Given the description of an element on the screen output the (x, y) to click on. 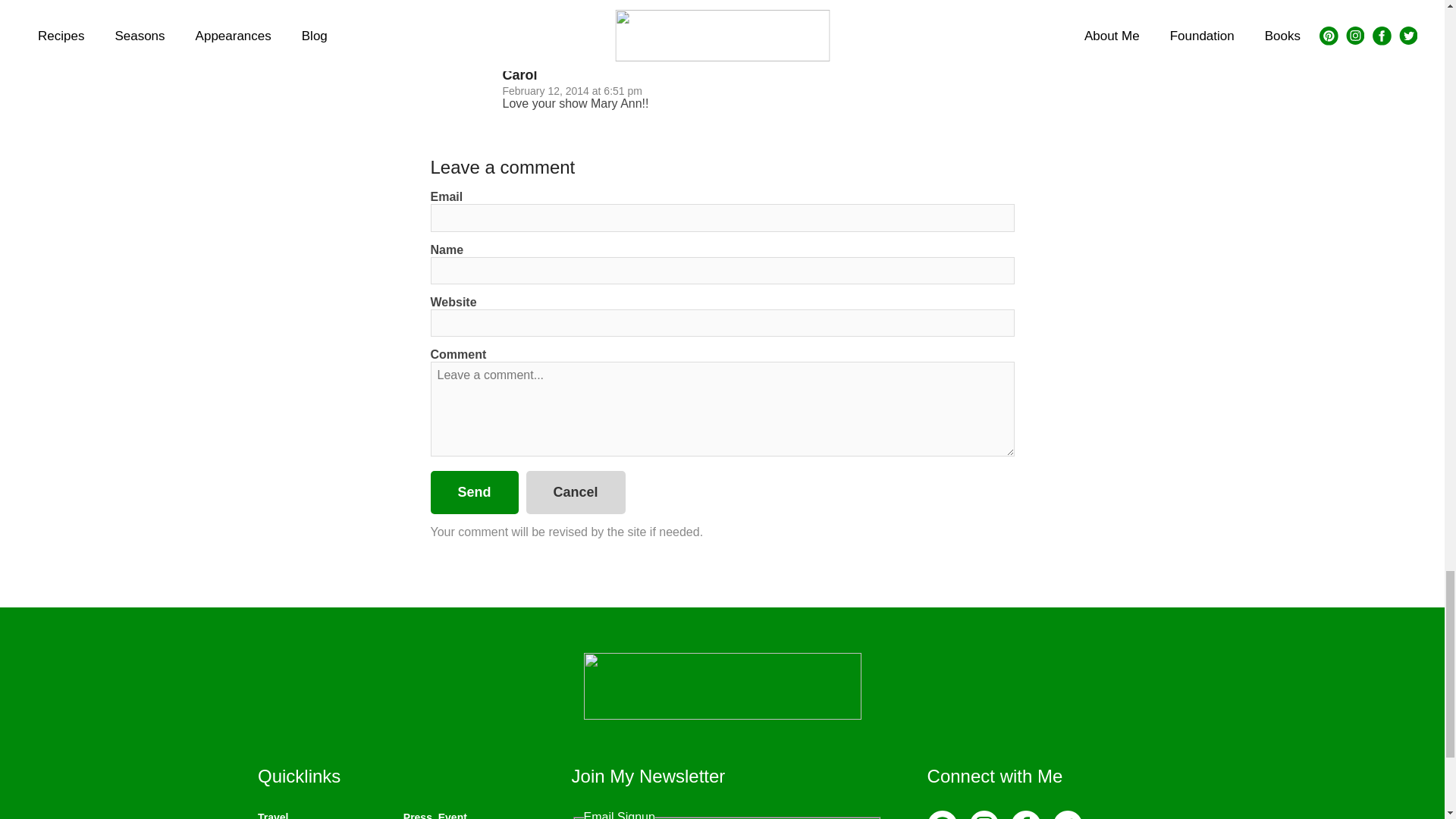
Cancel (575, 492)
Send (474, 492)
Travel (272, 815)
